Given the description of an element on the screen output the (x, y) to click on. 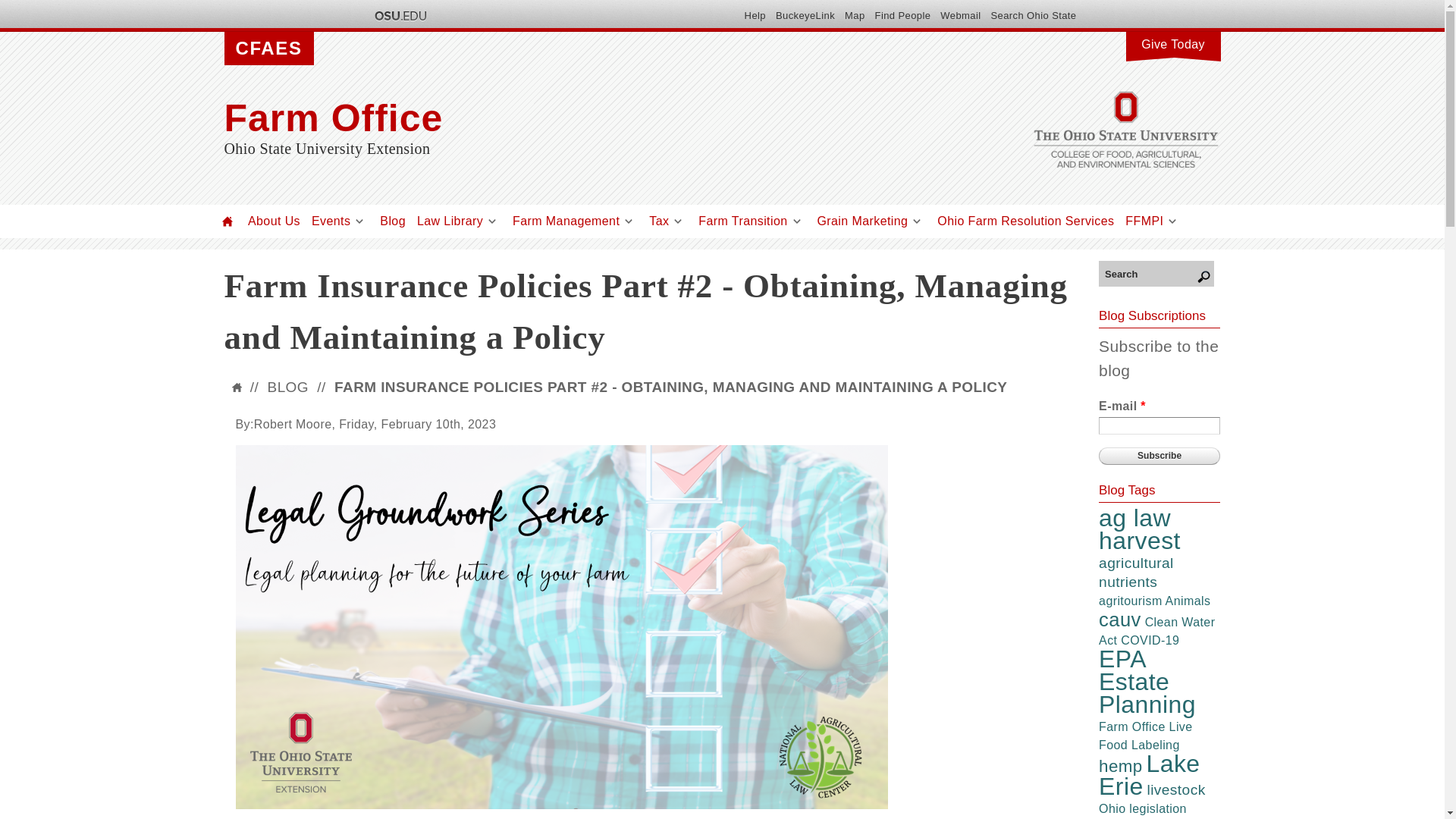
Farm Office (572, 118)
Law Library (449, 221)
Blog (393, 221)
Enter the terms you wish to search for. (1155, 273)
Subscribe (1159, 456)
Find People (903, 15)
Events (330, 221)
Home (226, 221)
Search (1155, 273)
About Us (273, 221)
Webmail (959, 15)
BuckeyeLink (805, 15)
Map (854, 15)
Skip to main content (686, 1)
